Given the description of an element on the screen output the (x, y) to click on. 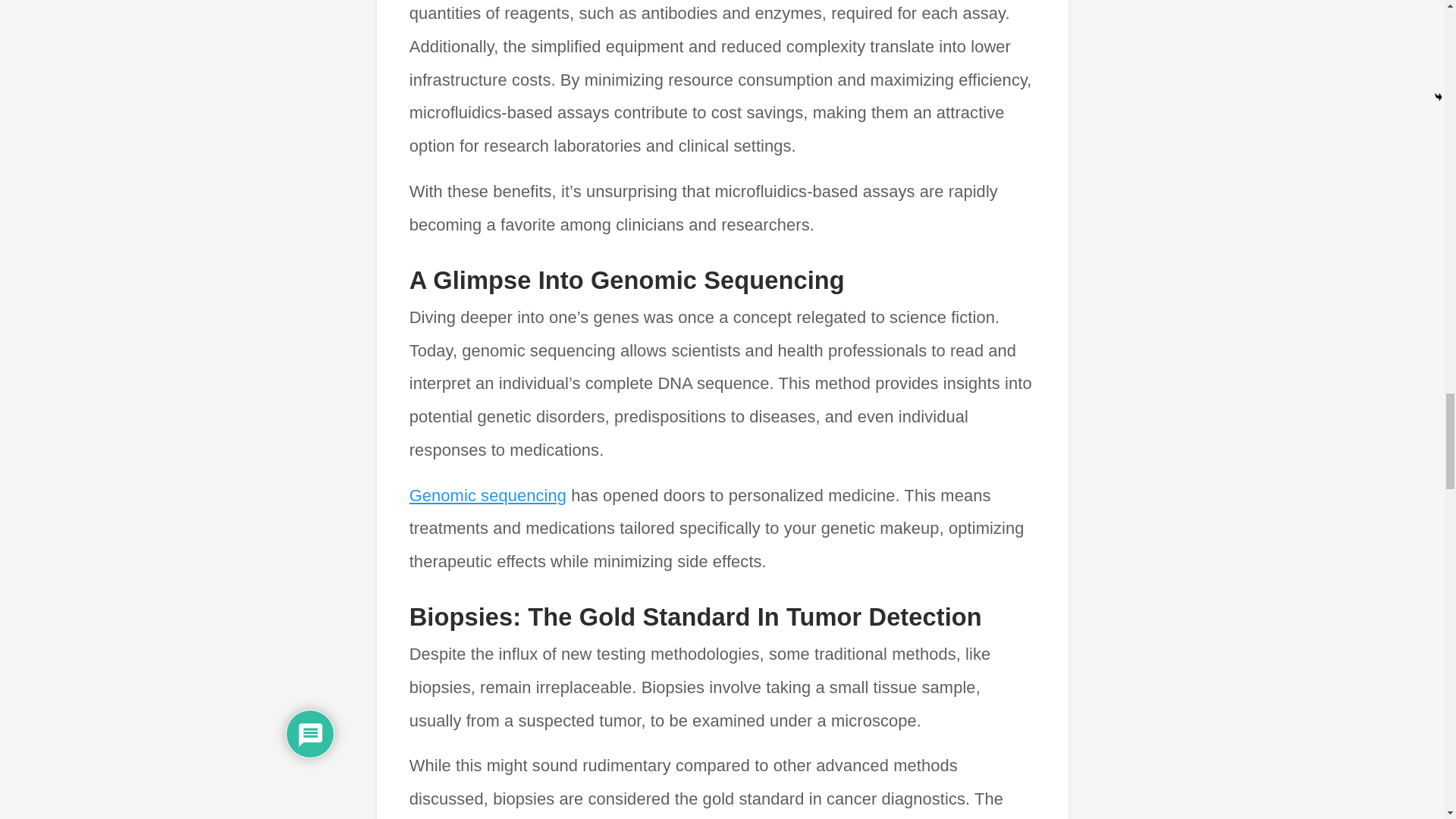
Genomic sequencing (487, 495)
